Given the description of an element on the screen output the (x, y) to click on. 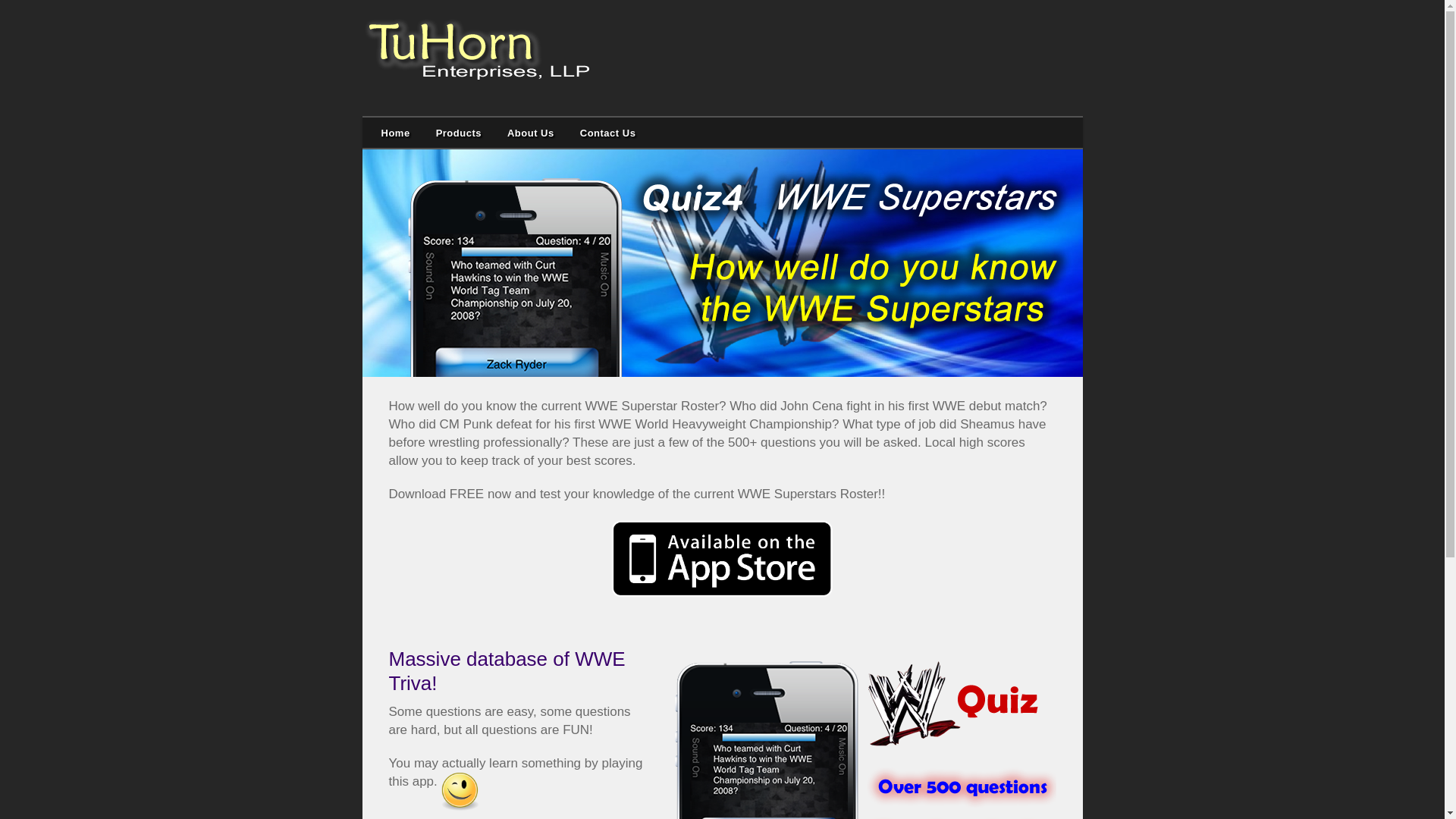
Contact Us (608, 133)
Products (459, 133)
About Us (531, 133)
Home (395, 133)
